Given the description of an element on the screen output the (x, y) to click on. 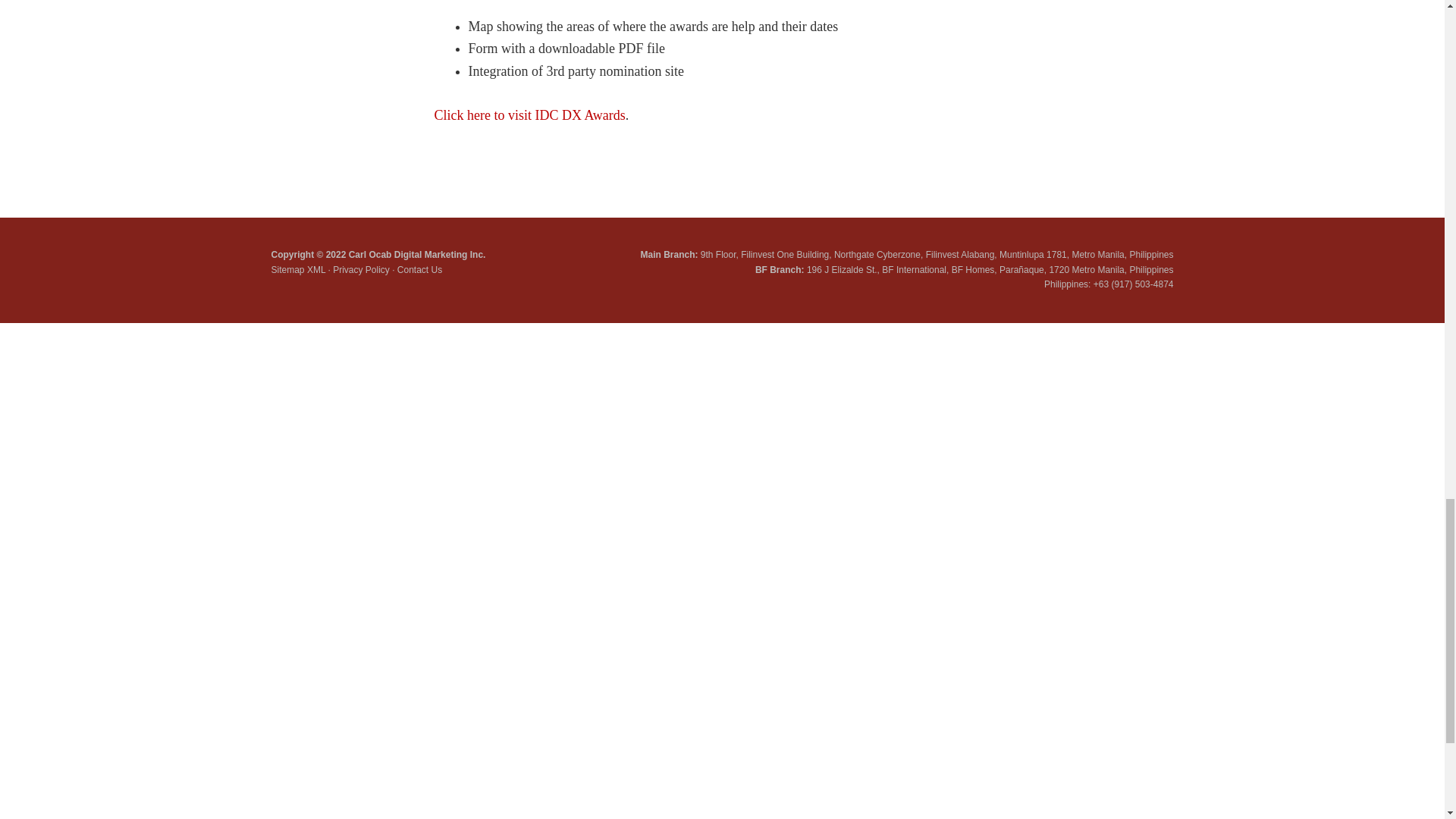
Click here to visit IDC DX Awards (528, 114)
Sitemap (287, 269)
XML (315, 269)
